Given the description of an element on the screen output the (x, y) to click on. 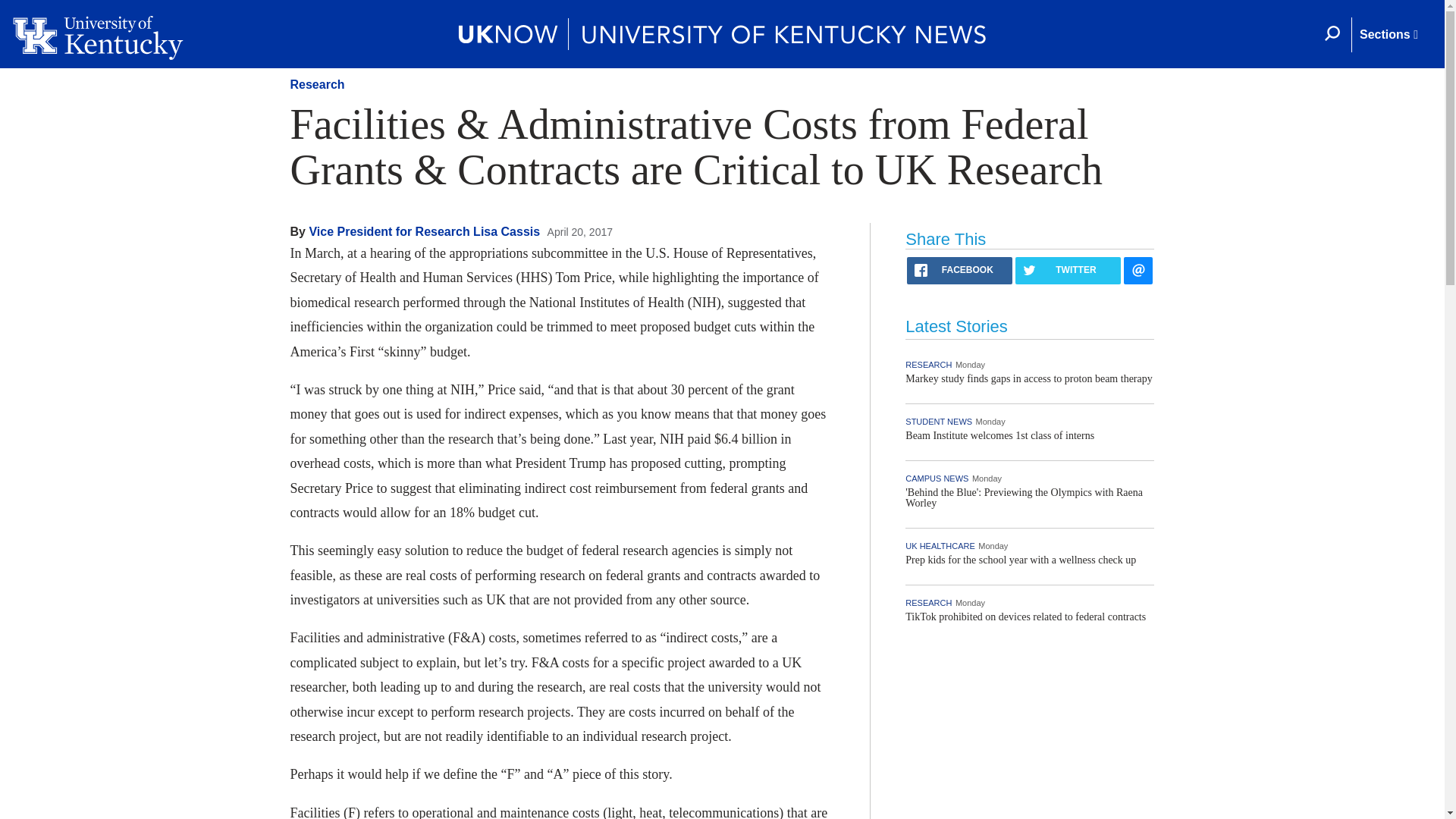
'Behind the Blue': Previewing the Olympics with Raena Worley (1023, 497)
FACEBOOK (959, 270)
Prep kids for the school year with a wellness check up (1020, 559)
Markey study finds gaps in access to proton beam therapy (1028, 378)
Research (316, 83)
Sections (1388, 34)
Section navigation menu (1388, 34)
TikTok prohibited on devices related to federal contracts (1025, 616)
Beam Institute welcomes 1st class of interns (999, 435)
TWITTER (1067, 270)
Vice President for Research Lisa Cassis (424, 231)
